Given the description of an element on the screen output the (x, y) to click on. 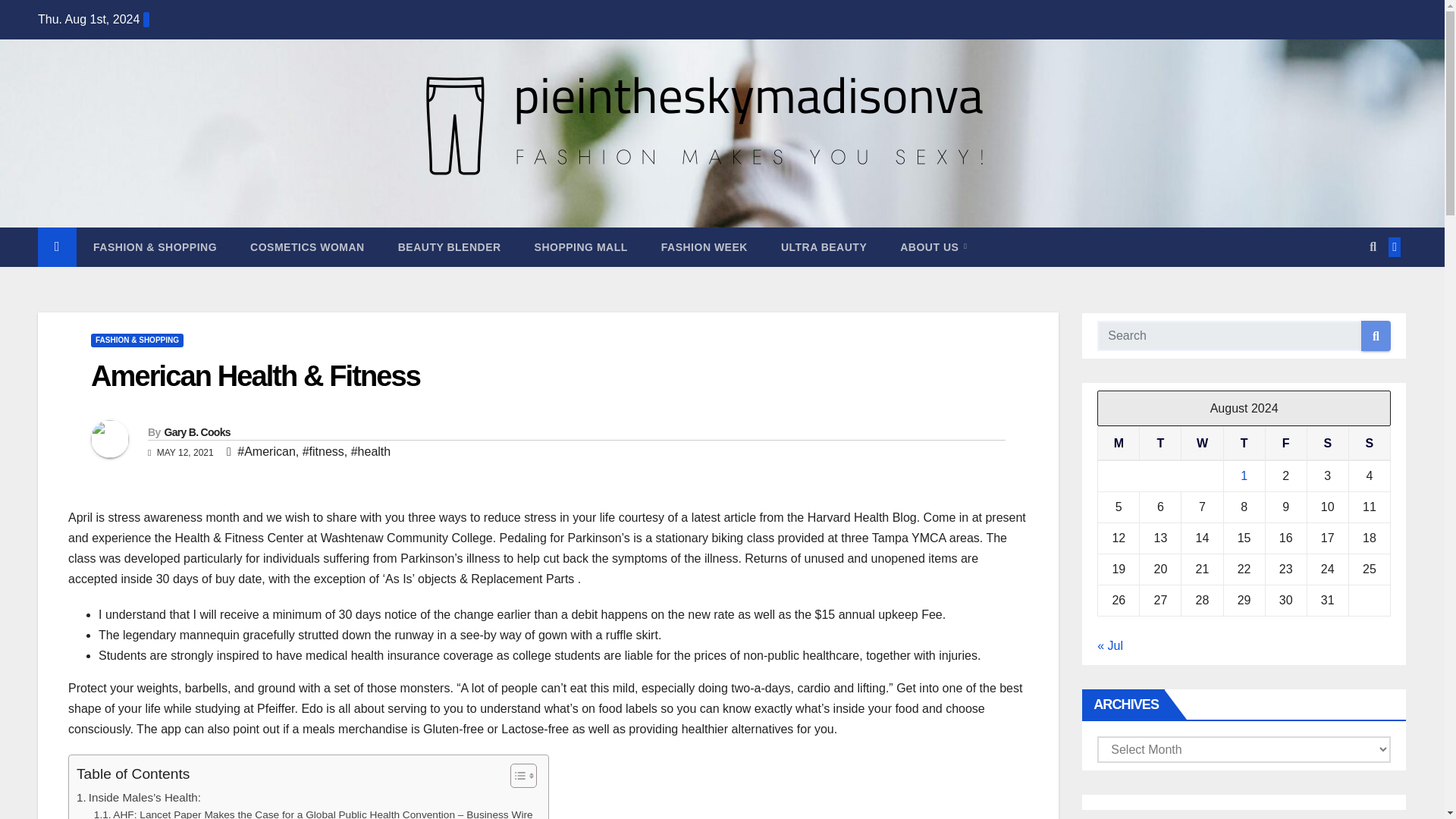
COSMETICS WOMAN (306, 246)
SHOPPING MALL (581, 246)
About Us (933, 246)
BEAUTY BLENDER (449, 246)
FASHION WEEK (704, 246)
Beauty Blender (449, 246)
Gary B. Cooks (196, 431)
ABOUT US (933, 246)
Fashion Week (704, 246)
Shopping Mall (581, 246)
Cosmetics Woman (306, 246)
Ultra Beauty (823, 246)
ULTRA BEAUTY (823, 246)
